Given the description of an element on the screen output the (x, y) to click on. 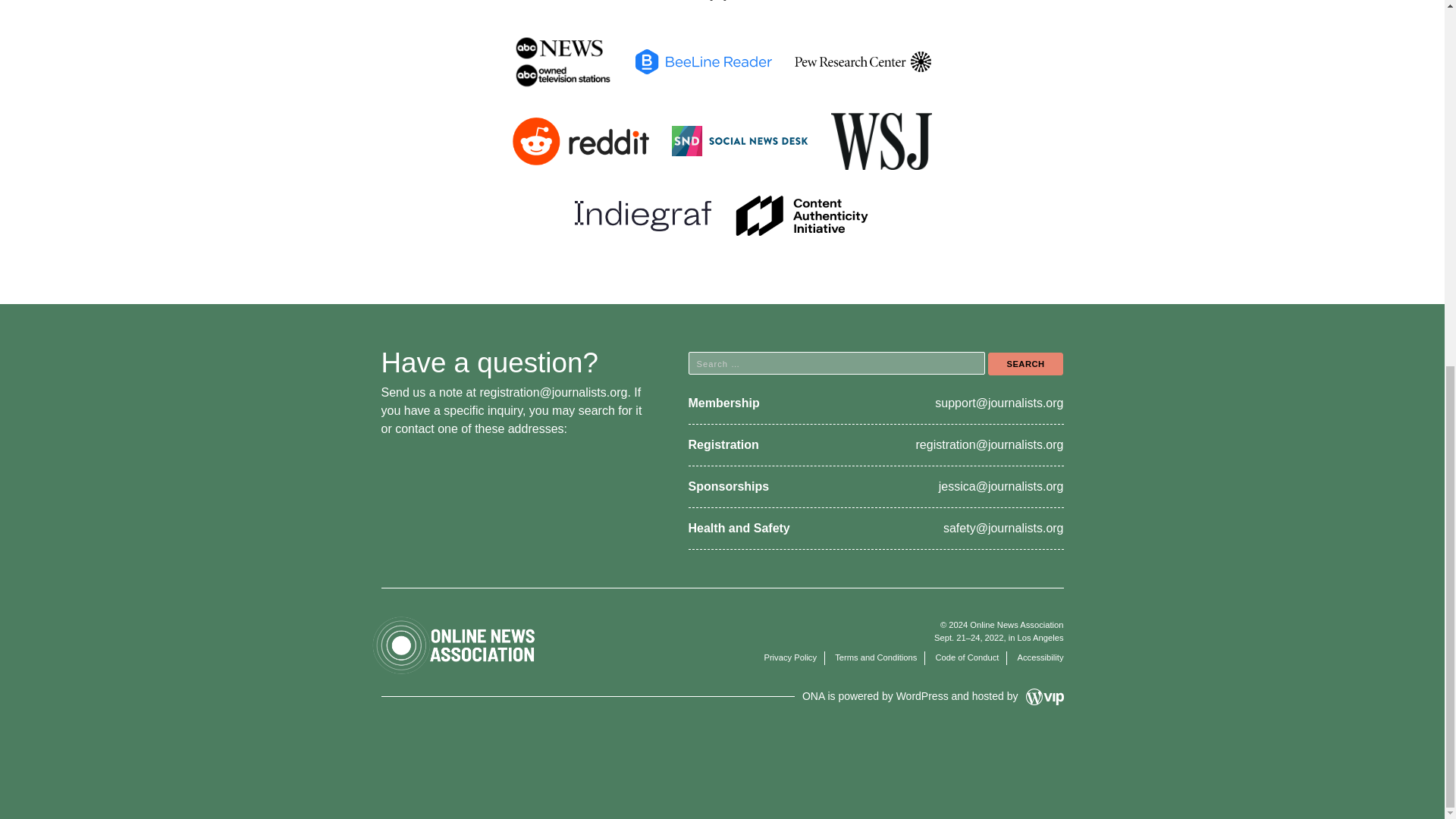
Privacy Policy (789, 656)
Search (1025, 363)
Terms and Conditions (875, 656)
Search (1025, 363)
Accessibility (1040, 656)
Search (1025, 363)
Code of Conduct (966, 656)
